Given the description of an element on the screen output the (x, y) to click on. 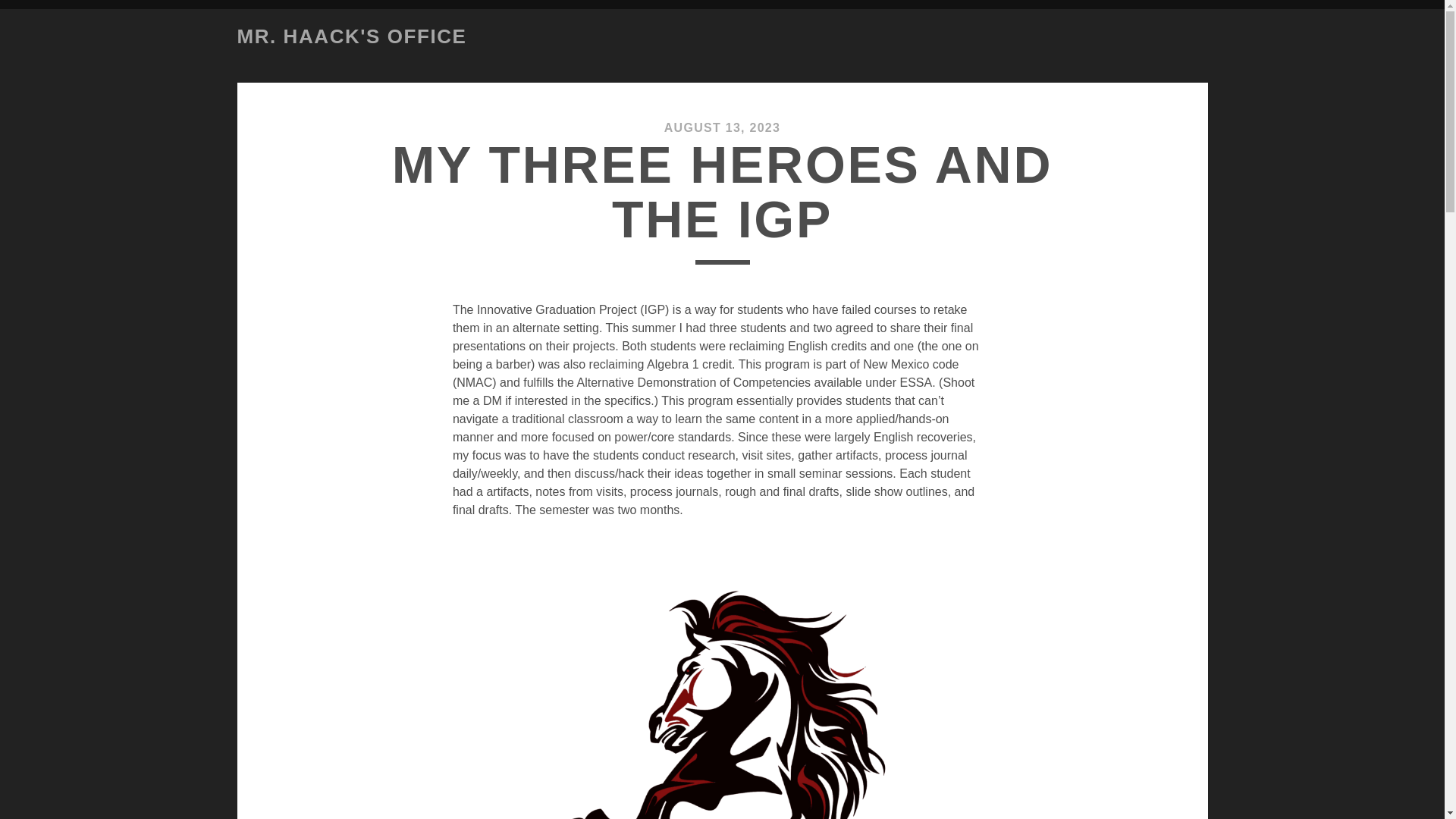
MR. HAACK'S OFFICE (350, 36)
